Given the description of an element on the screen output the (x, y) to click on. 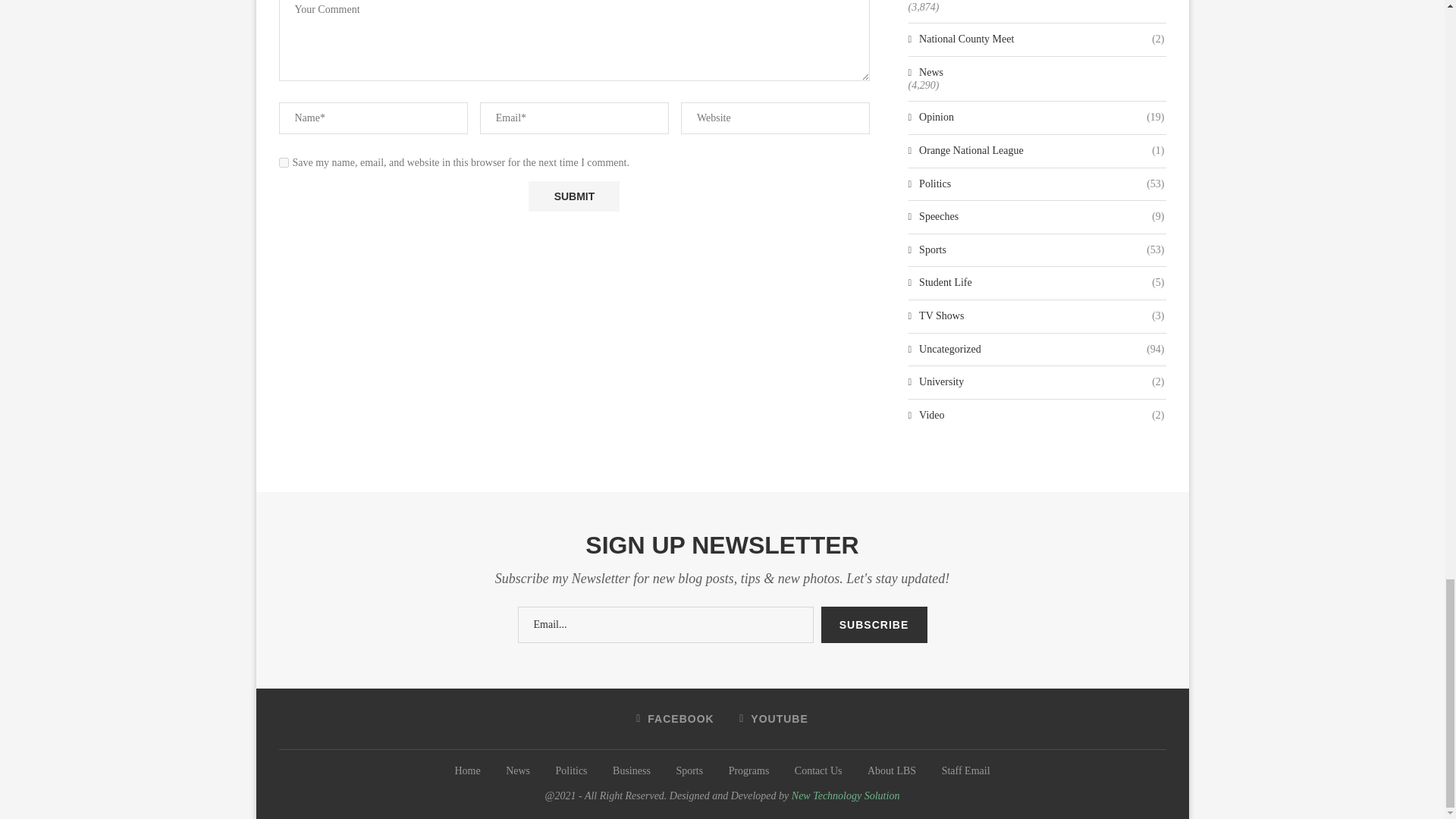
yes (283, 162)
Subscribe (873, 624)
Submit (574, 195)
